Given the description of an element on the screen output the (x, y) to click on. 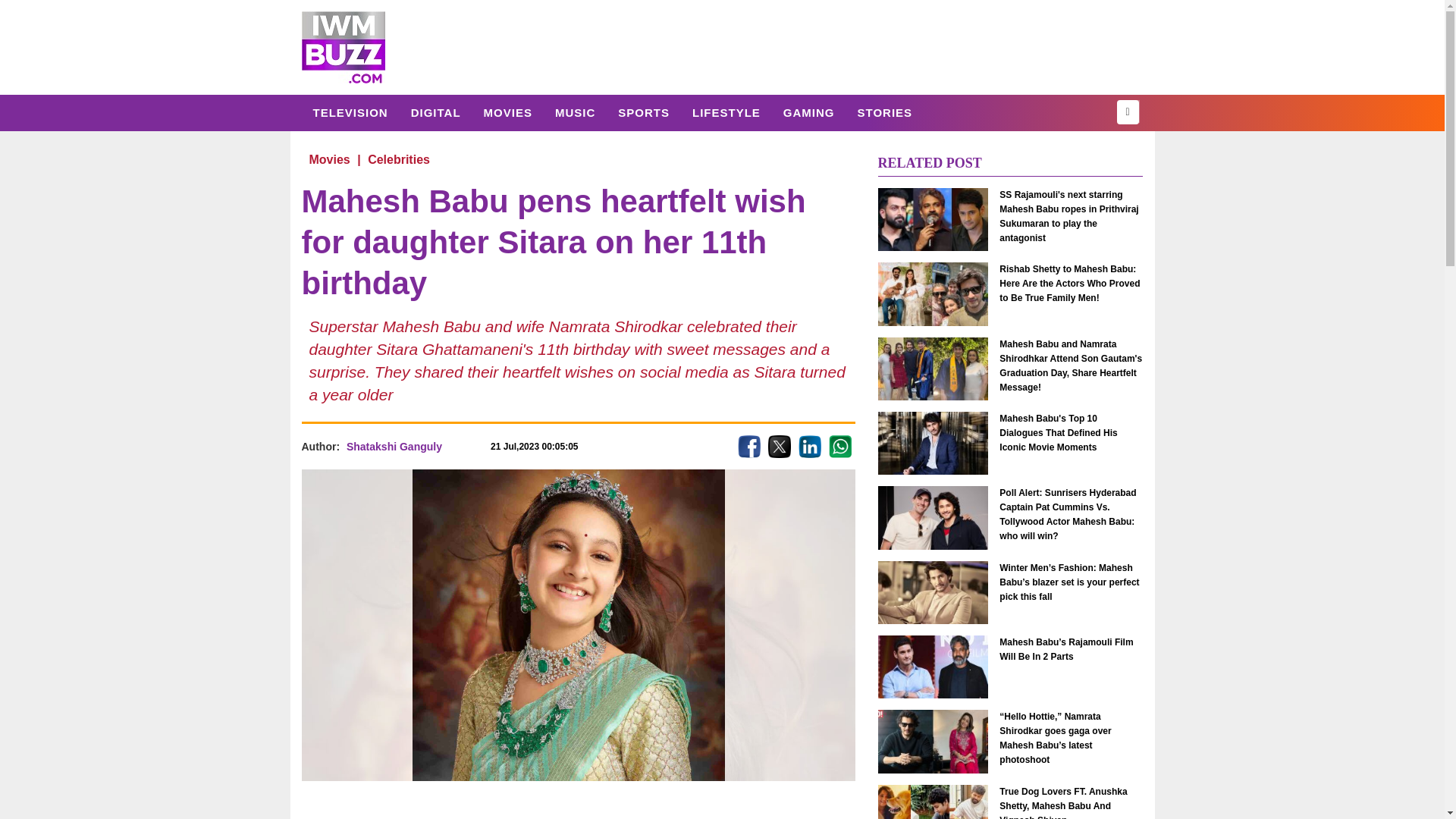
MOVIES (507, 112)
Movies (507, 112)
Gaming (808, 112)
STORIES (884, 112)
Sports (644, 112)
Digital (434, 112)
Celebrities (398, 159)
MUSIC (575, 112)
SPORTS (644, 112)
